Given the description of an element on the screen output the (x, y) to click on. 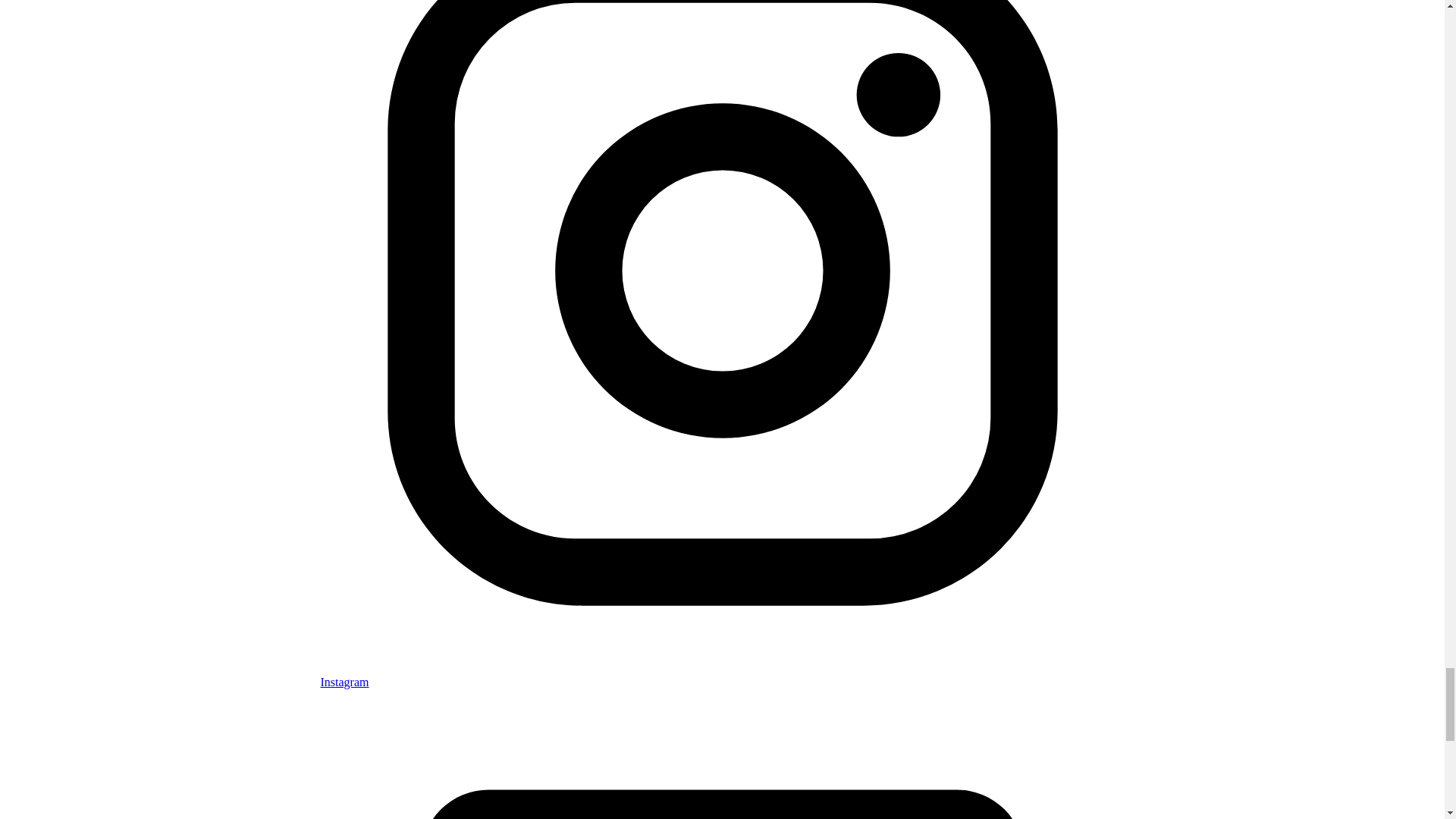
Instagram (722, 674)
